Given the description of an element on the screen output the (x, y) to click on. 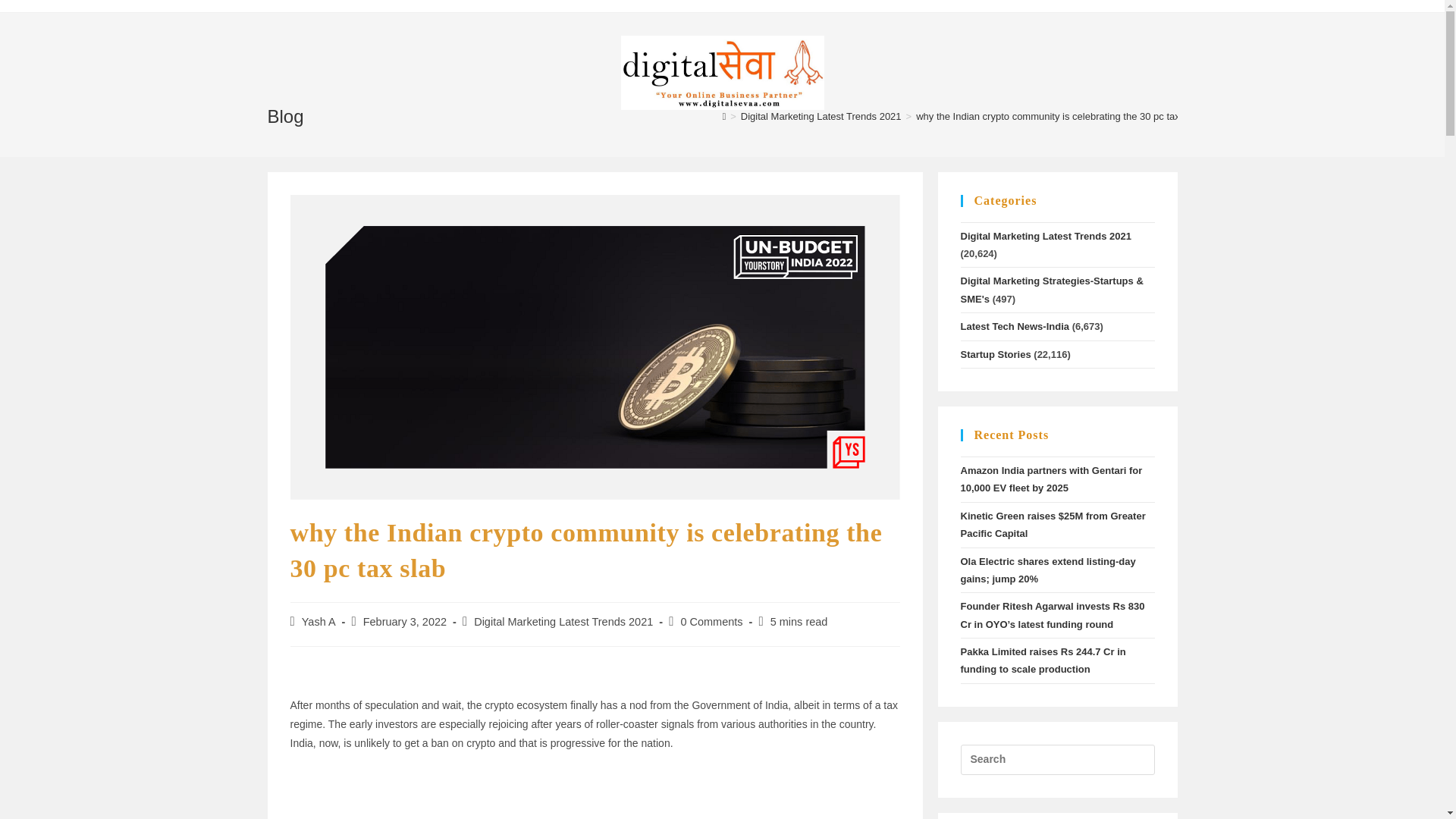
Digital Marketing Latest Trends 2021 (563, 621)
Startup Stories (994, 354)
Latest Tech News-India (1013, 326)
0 Comments (710, 621)
Yash A (318, 621)
Digital Marketing Latest Trends 2021 (1045, 235)
Posts by Yash A (318, 621)
Digital Marketing Latest Trends 2021 (821, 116)
